Given the description of an element on the screen output the (x, y) to click on. 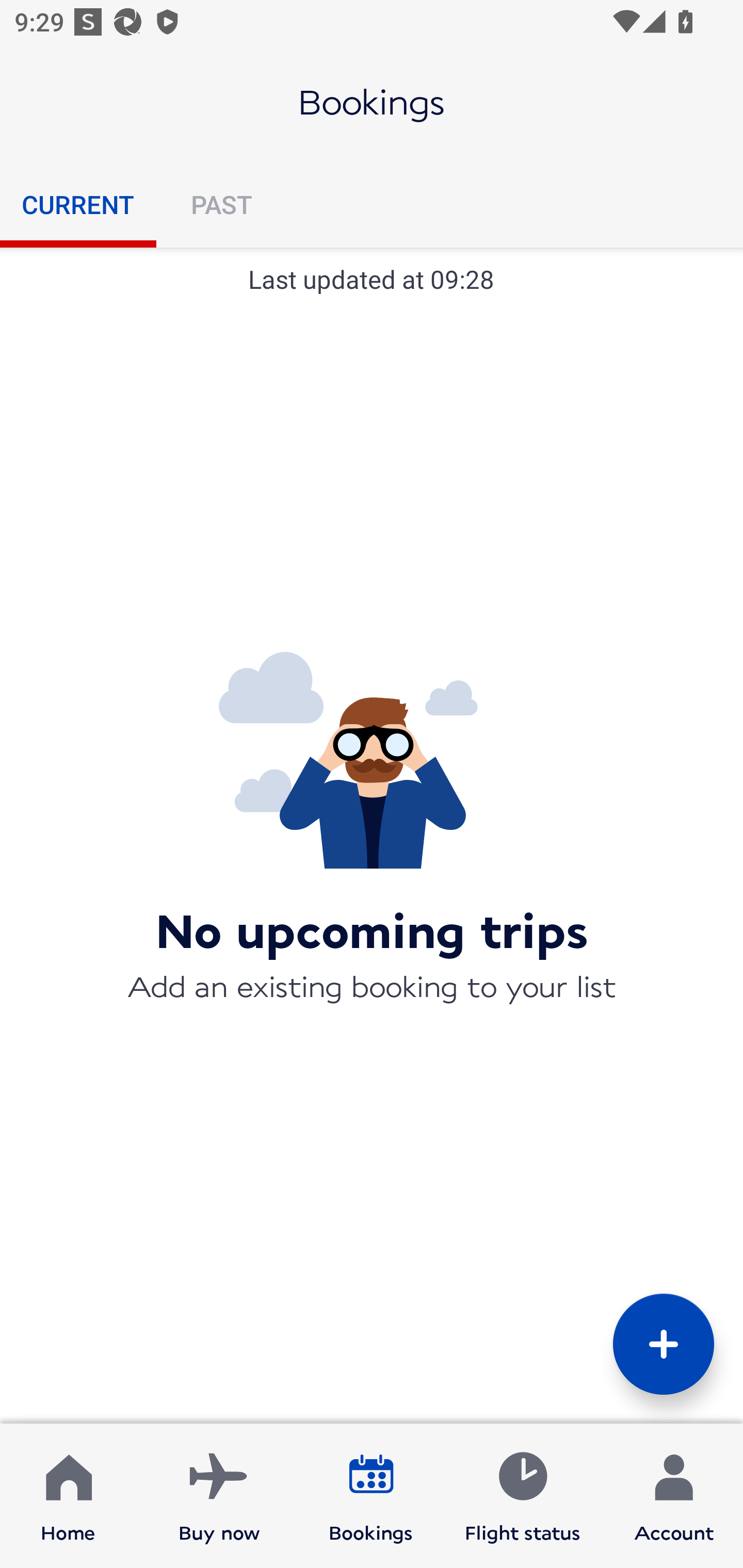
PAST (221, 204)
Home (68, 1495)
Buy now (219, 1495)
Flight status (522, 1495)
Account (674, 1495)
